Given the description of an element on the screen output the (x, y) to click on. 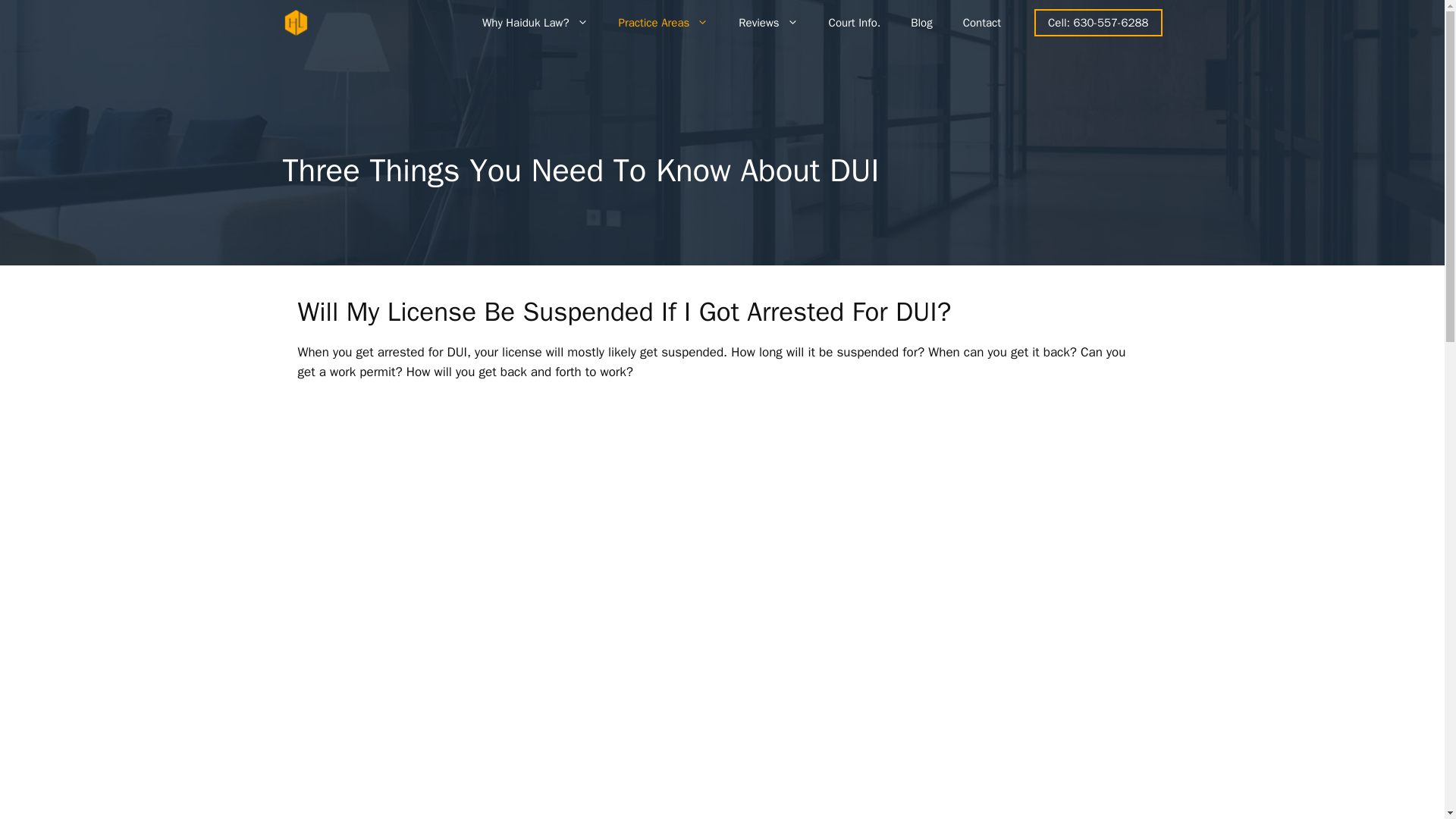
Practice Areas (663, 22)
Cell: 630-557-6288 (1097, 22)
Court Info. (854, 22)
Reviews (767, 22)
Why Haiduk Law? (534, 22)
Blog (921, 22)
Contact (981, 22)
